Given the description of an element on the screen output the (x, y) to click on. 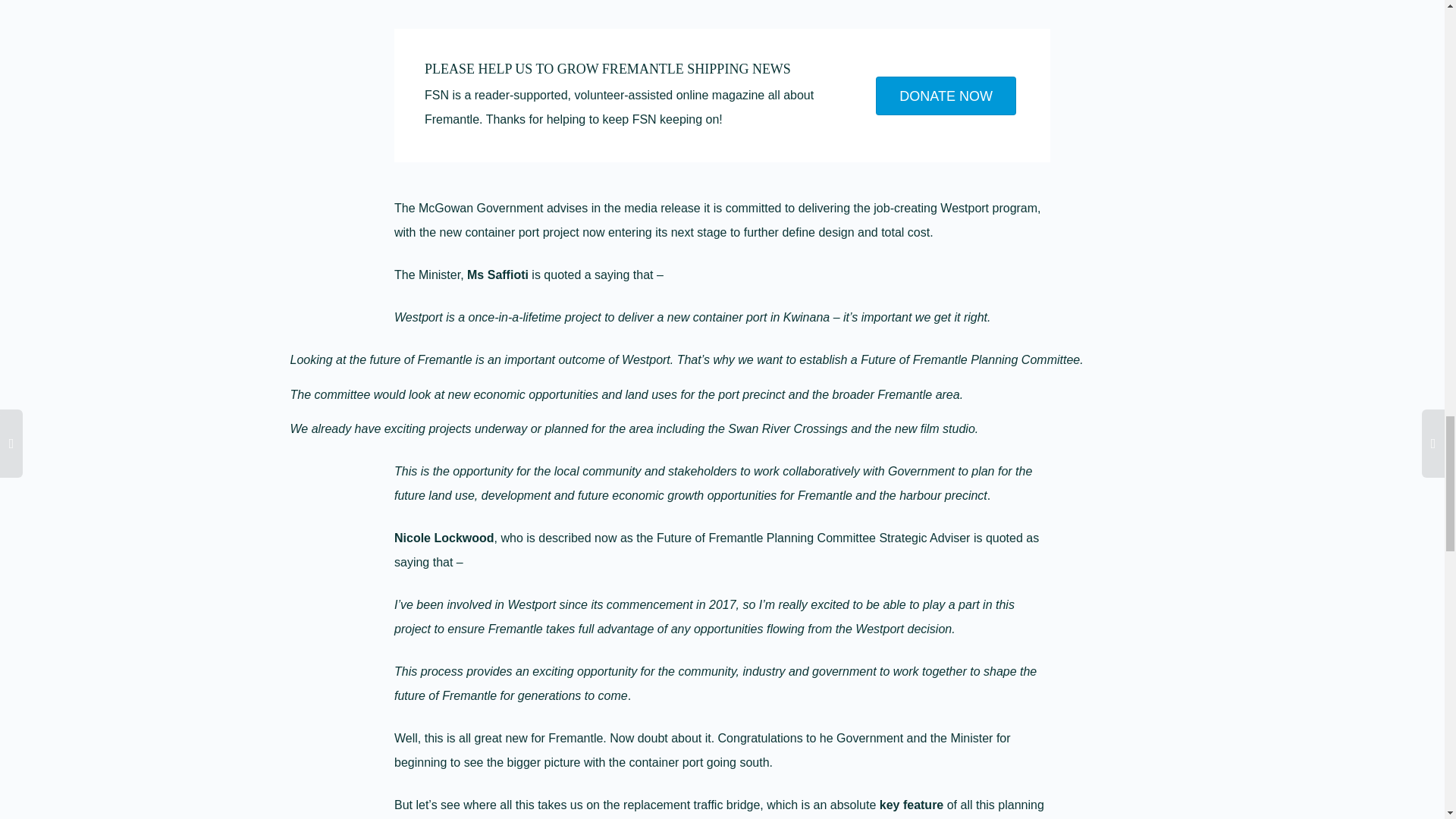
DONATE NOW (946, 95)
